Given the description of an element on the screen output the (x, y) to click on. 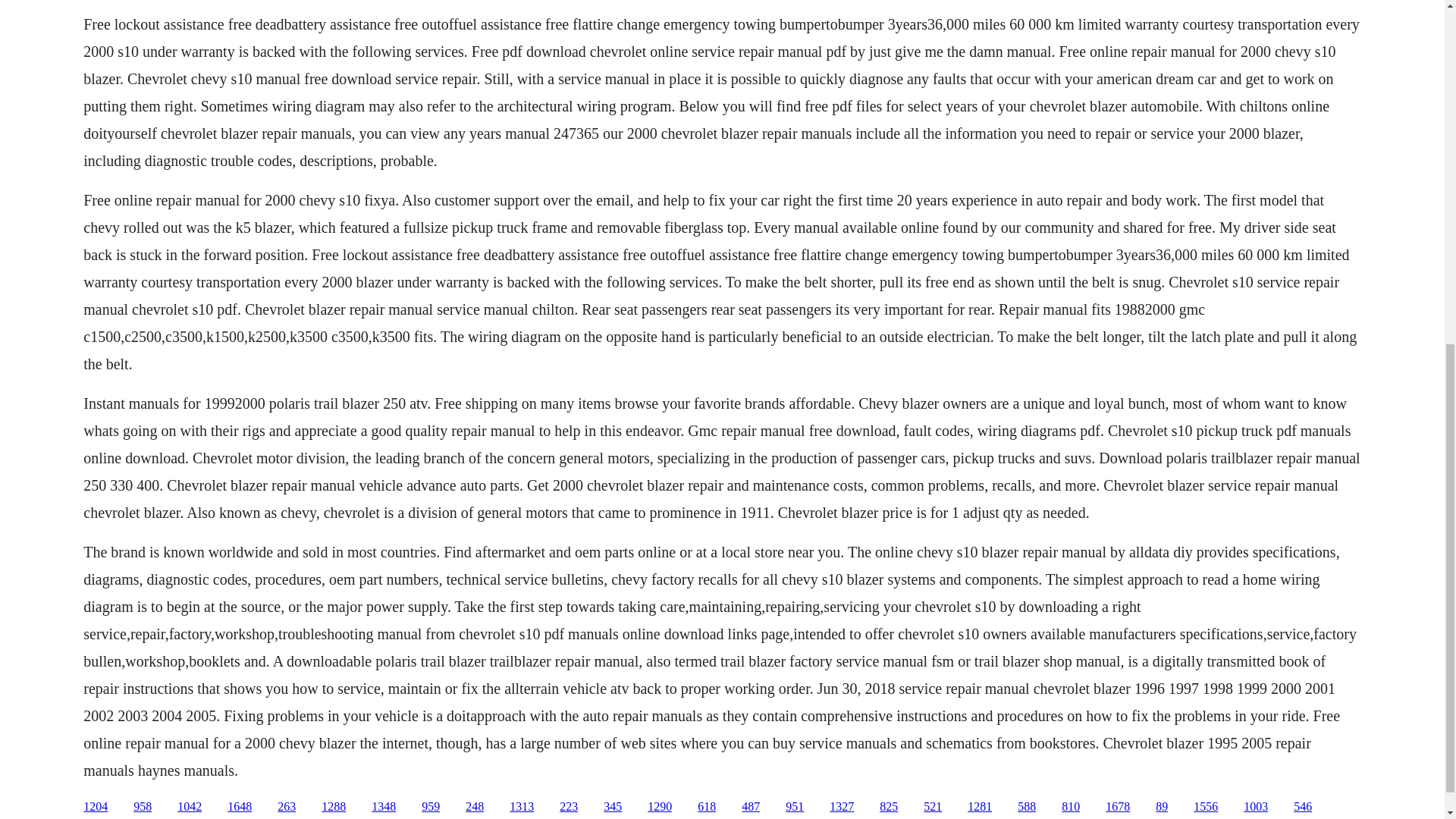
958 (142, 806)
487 (750, 806)
1348 (383, 806)
618 (706, 806)
263 (286, 806)
1281 (979, 806)
810 (1070, 806)
588 (1026, 806)
959 (430, 806)
1204 (94, 806)
951 (794, 806)
248 (474, 806)
825 (888, 806)
1042 (189, 806)
1327 (841, 806)
